Given the description of an element on the screen output the (x, y) to click on. 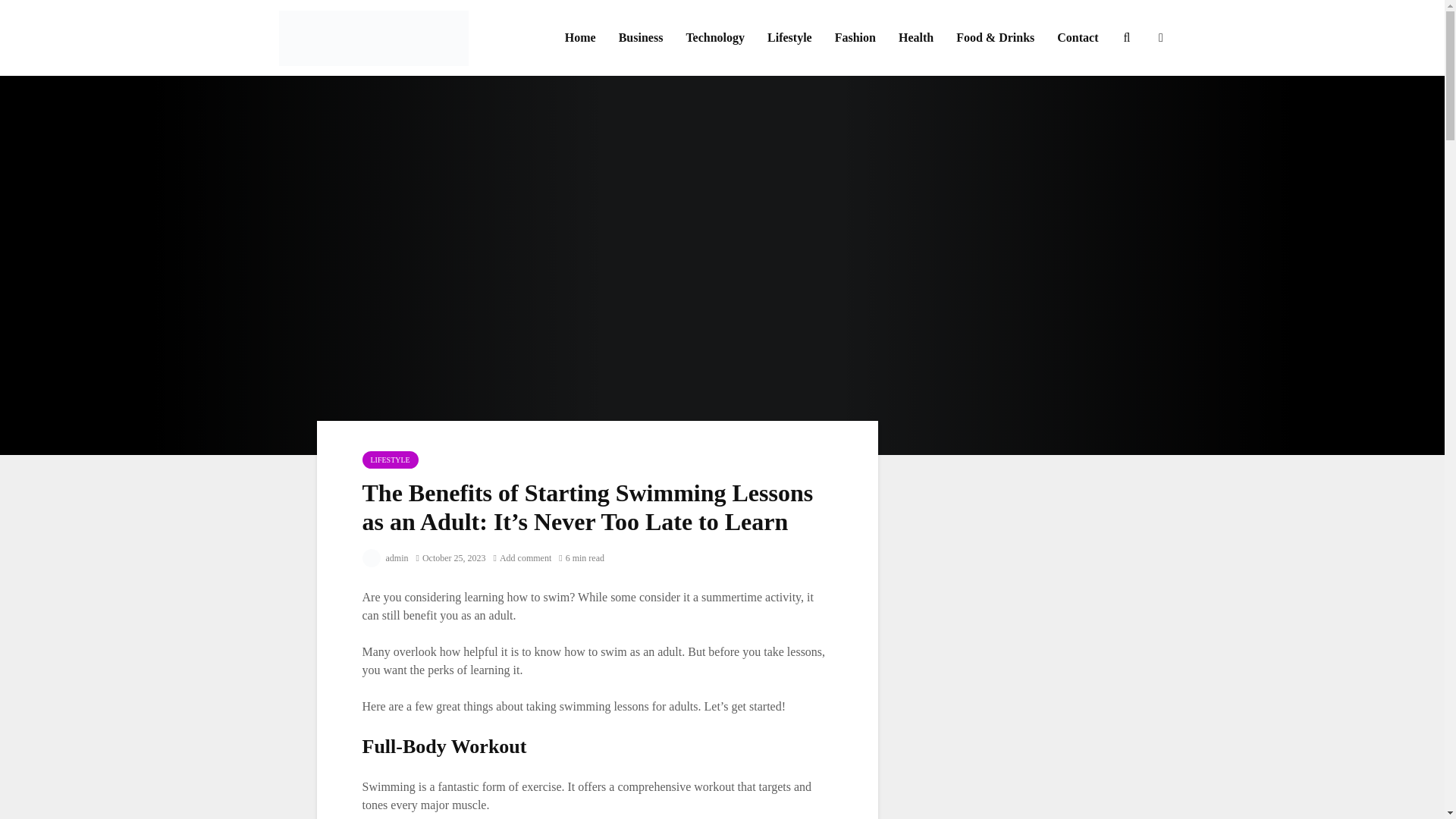
Home (580, 37)
Technology (714, 37)
Contact (1077, 37)
Add comment (522, 557)
LIFESTYLE (390, 459)
Fashion (855, 37)
admin (385, 557)
Lifestyle (789, 37)
Business (641, 37)
Health (915, 37)
